Given the description of an element on the screen output the (x, y) to click on. 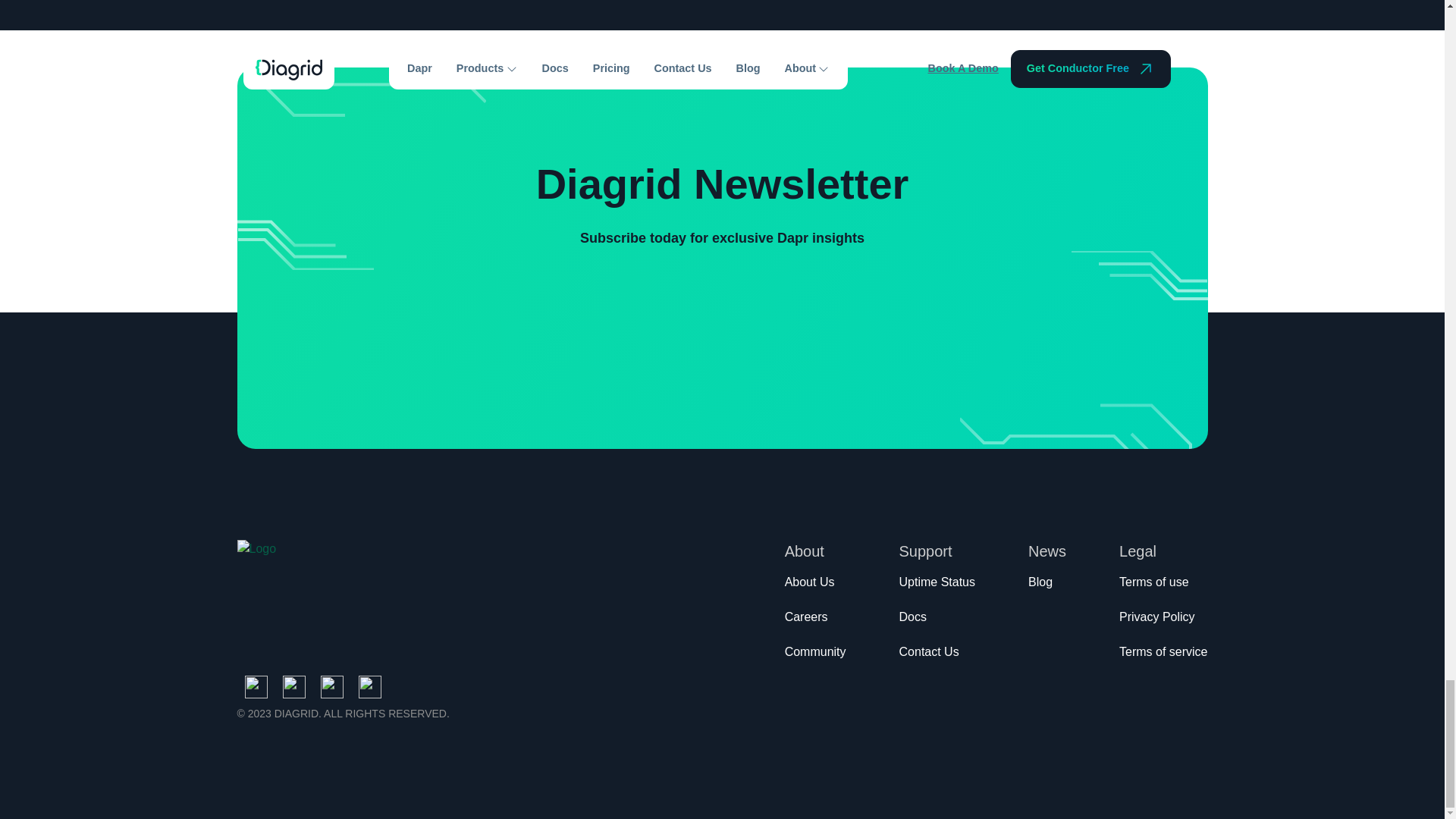
Blog (1039, 585)
Docs (912, 620)
Community (814, 655)
Careers (806, 620)
Terms of use (1154, 585)
About Us (809, 585)
Contact Us (929, 655)
Terms of service (1163, 655)
Uptime Status (937, 585)
Privacy Policy (1157, 620)
